Given the description of an element on the screen output the (x, y) to click on. 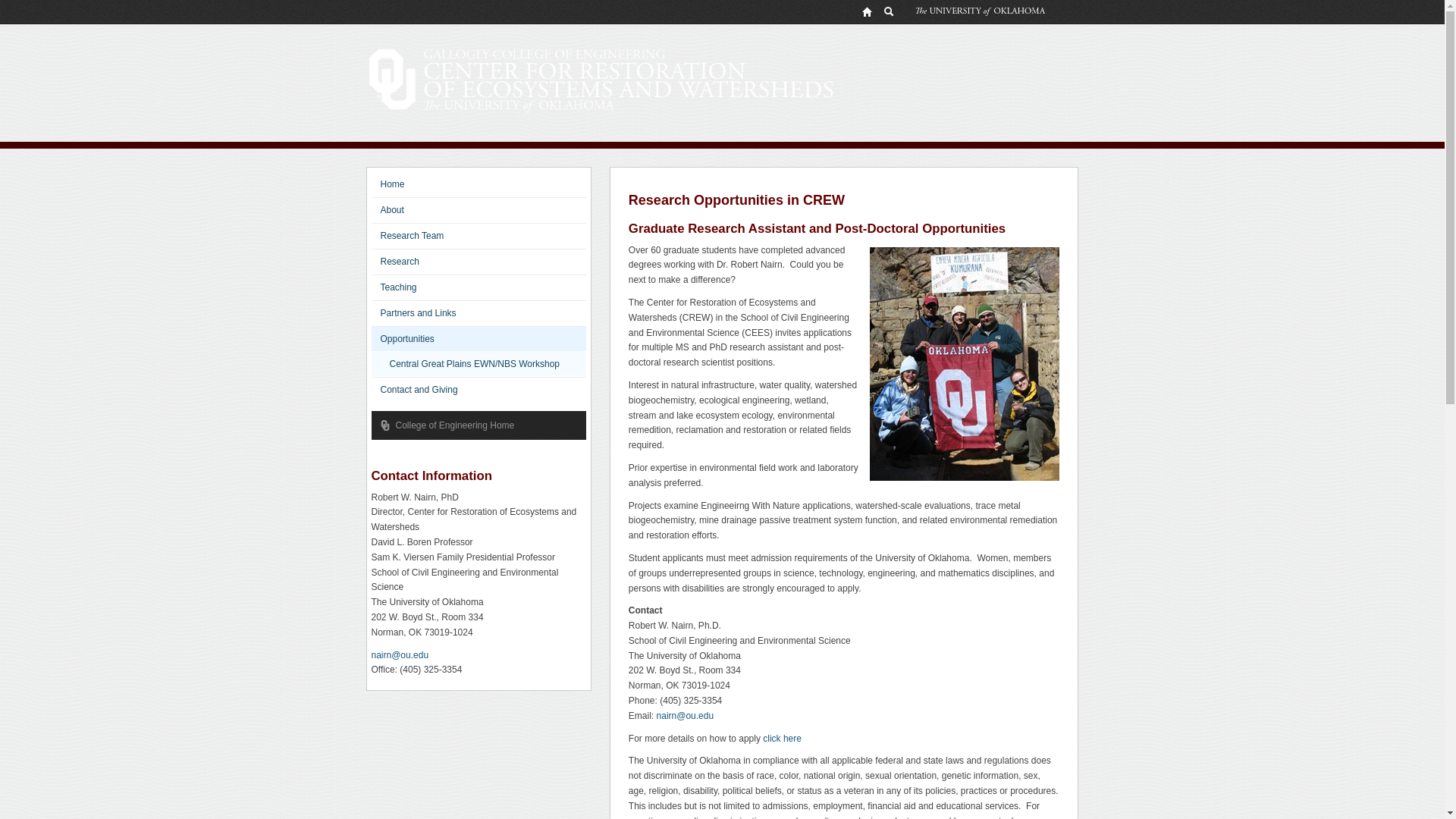
click here (782, 738)
Research Team (478, 235)
College of Engineering Home (478, 425)
Teaching (478, 287)
Contact and Giving (478, 389)
Research (478, 261)
Home (478, 183)
Opportunities (478, 339)
Partners and Links (478, 313)
